Given the description of an element on the screen output the (x, y) to click on. 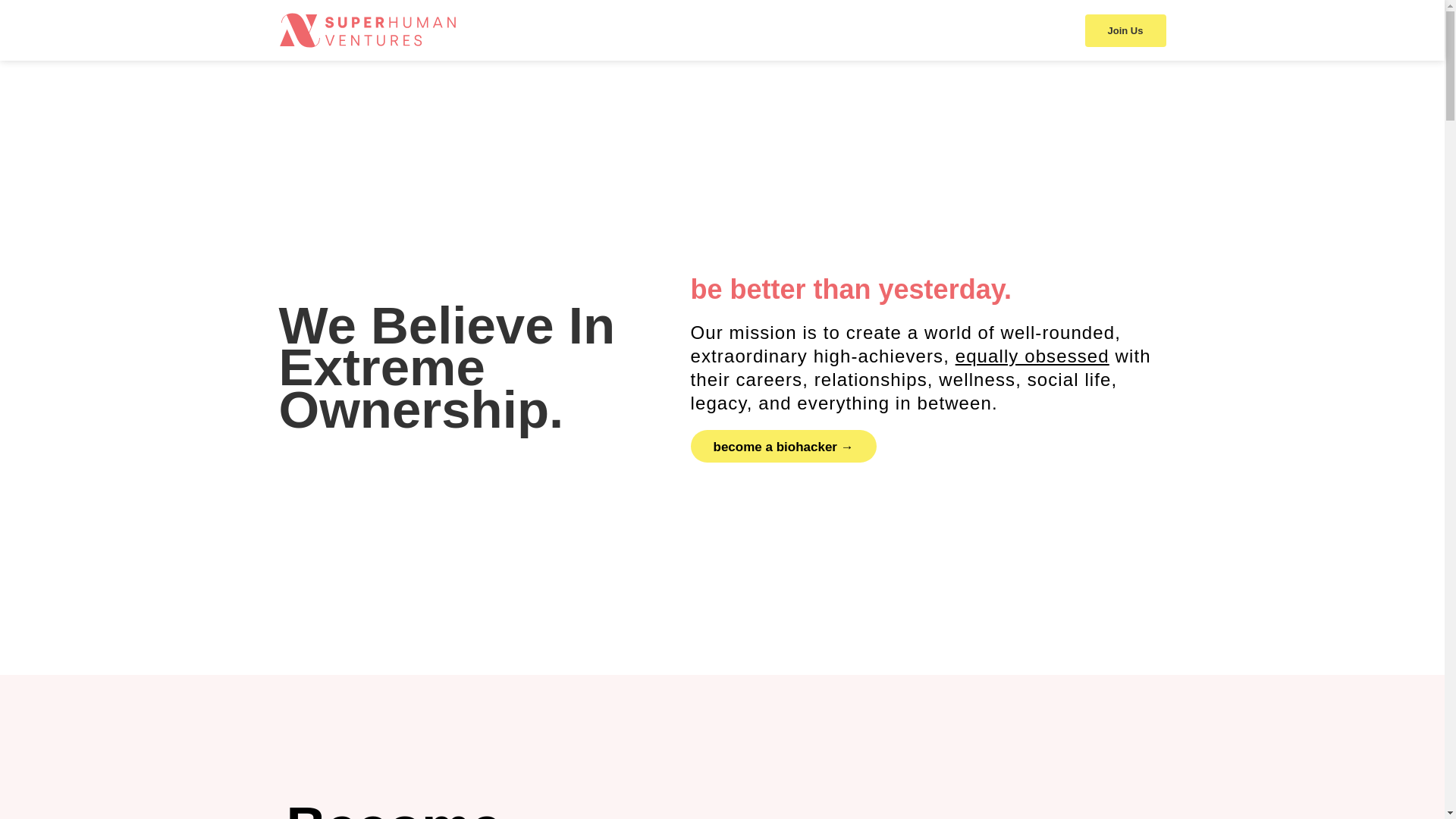
Join Us (1125, 29)
